Given the description of an element on the screen output the (x, y) to click on. 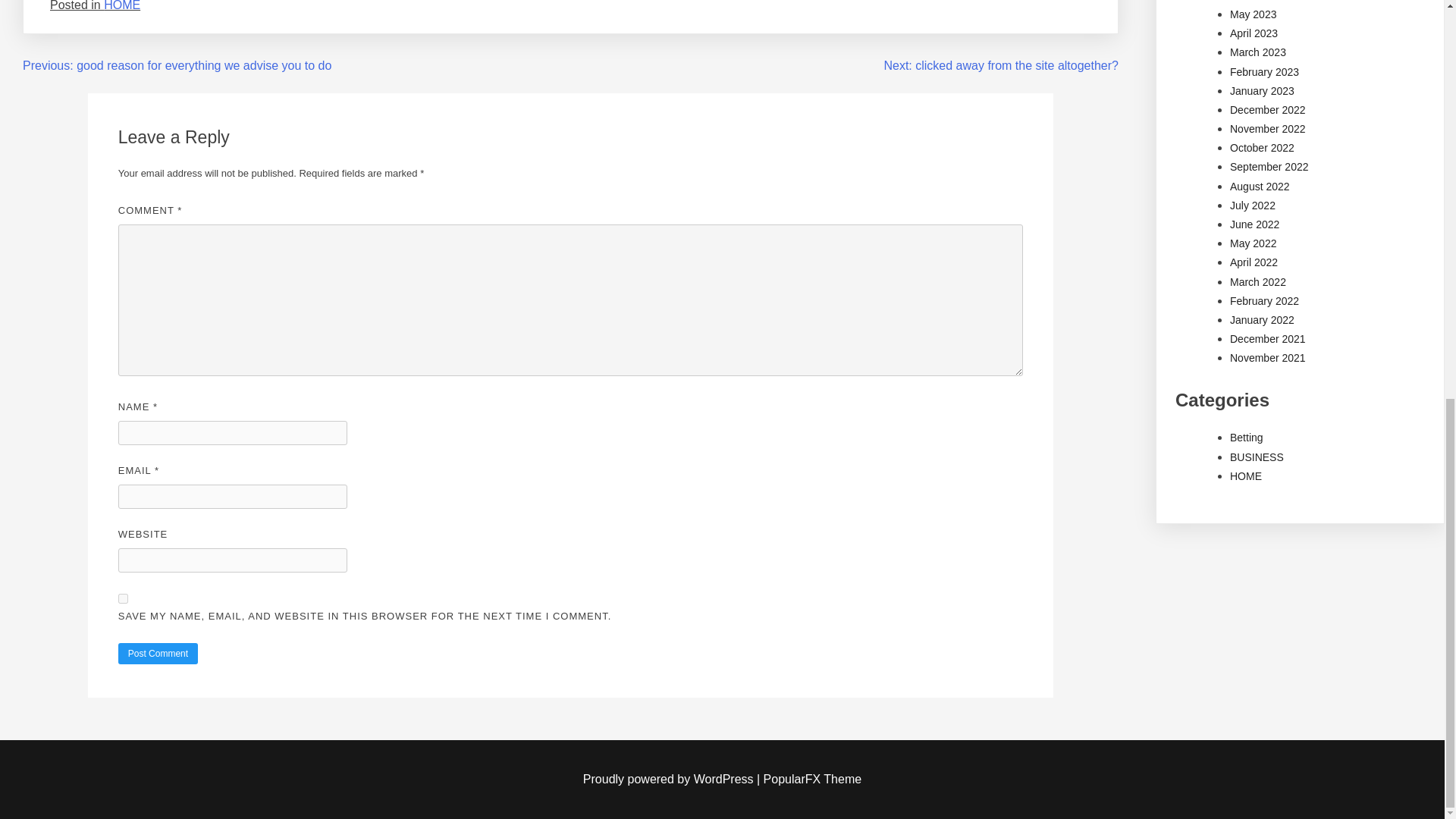
Previous: good reason for everything we advise you to do (177, 65)
Next: clicked away from the site altogether? (1000, 65)
yes (122, 598)
Post Comment (157, 653)
HOME (121, 5)
Post Comment (157, 653)
